Given the description of an element on the screen output the (x, y) to click on. 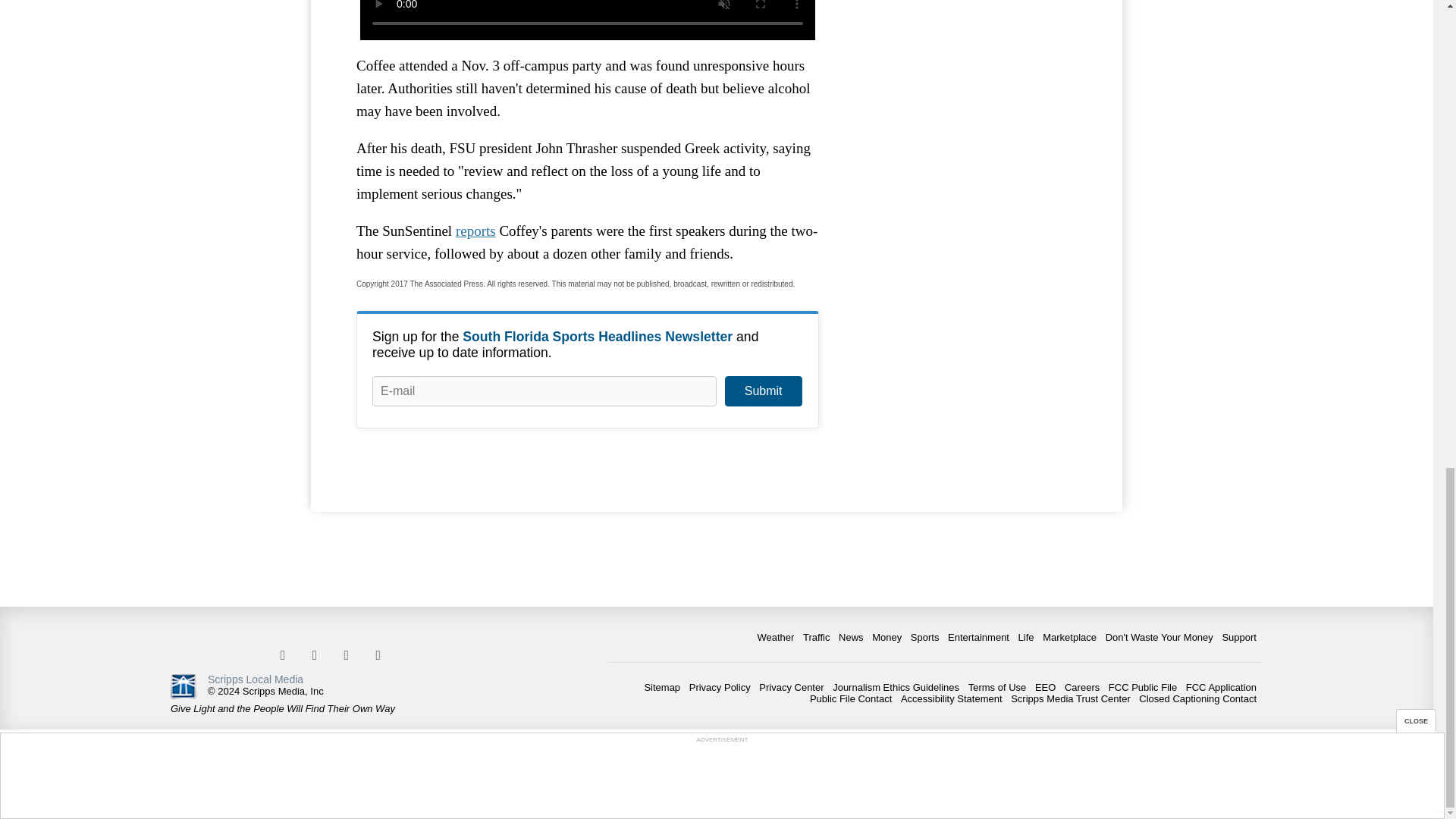
Submit (763, 390)
